Given the description of an element on the screen output the (x, y) to click on. 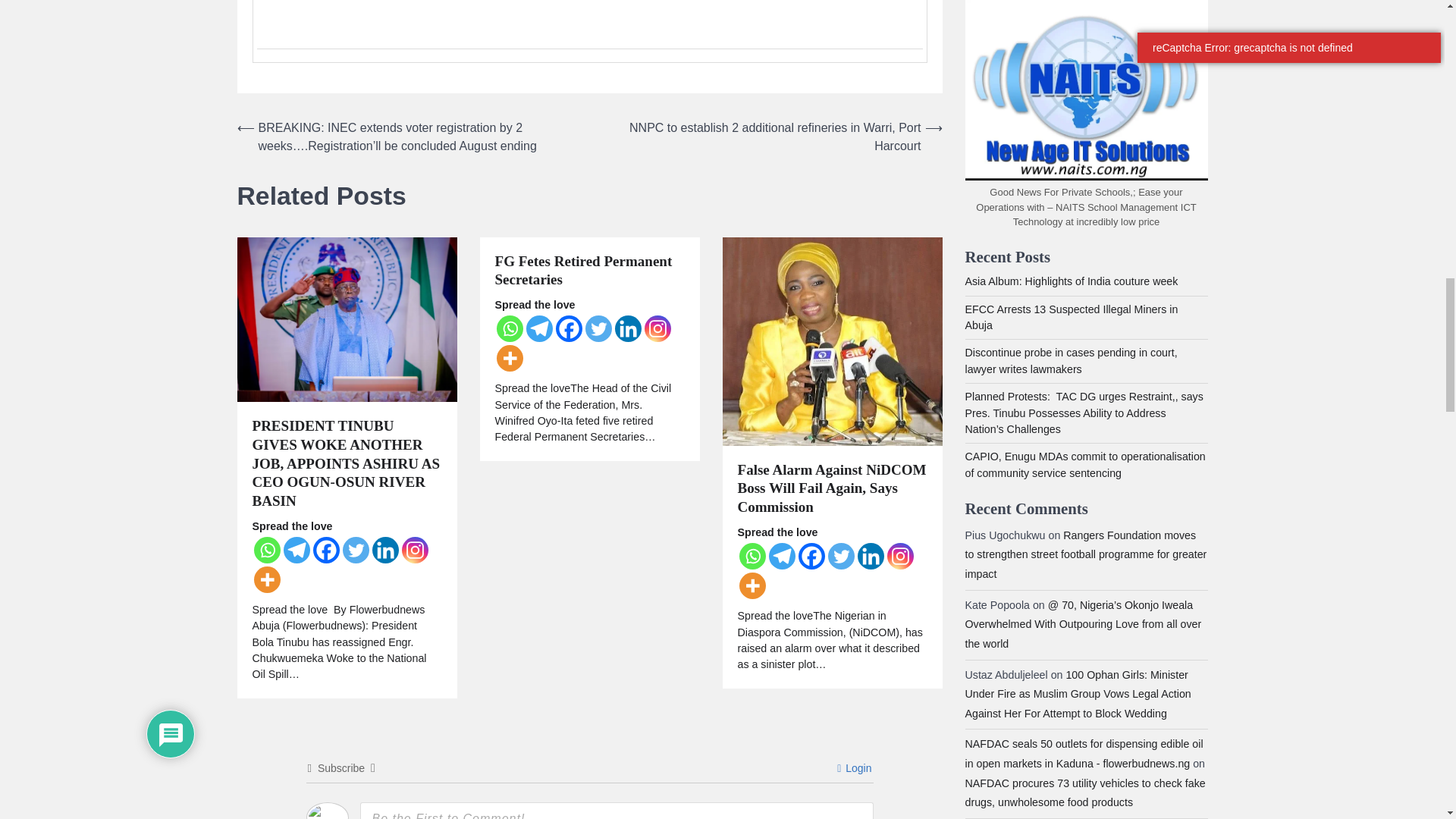
Facebook (326, 550)
Instagram (414, 550)
Linkedin (384, 550)
More (266, 579)
Telegram (296, 550)
Twitter (355, 550)
Whatsapp (509, 328)
Whatsapp (266, 550)
